Given the description of an element on the screen output the (x, y) to click on. 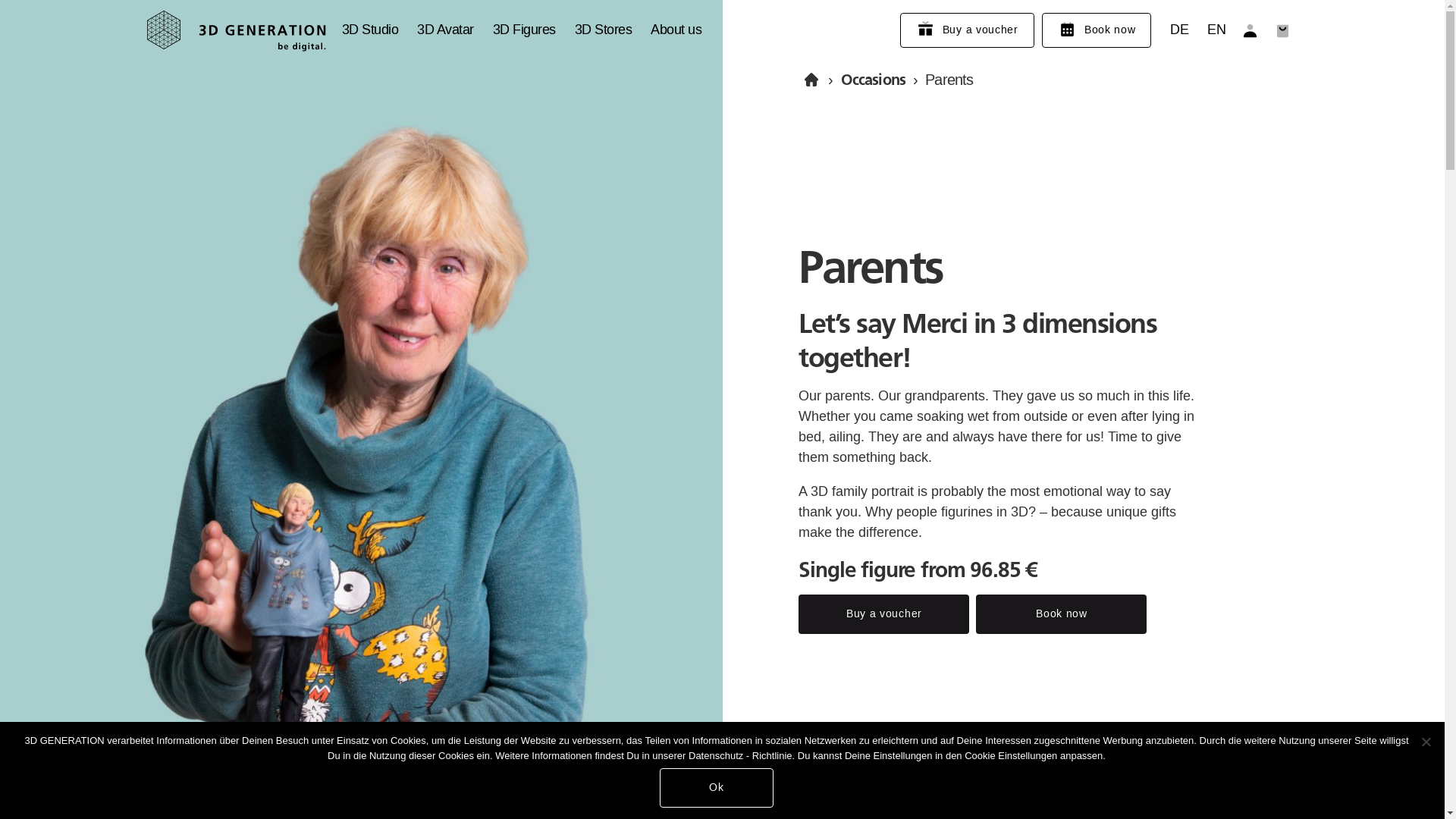
Book now Element type: text (1060, 613)
3D Studio Element type: text (369, 30)
DE Element type: text (1179, 30)
Login Element type: hover (1249, 30)
3D Avatar Element type: text (445, 30)
Book now Element type: text (1096, 29)
Ok Element type: text (716, 787)
View your shopping cart Element type: hover (1282, 30)
Buy a voucher Element type: text (967, 29)
Occasions Element type: text (873, 79)
3D Stores Element type: text (603, 30)
Buy a voucher Element type: text (883, 613)
3D Figures Element type: text (523, 30)
About us Element type: text (675, 30)
EN Element type: text (1216, 30)
